Given the description of an element on the screen output the (x, y) to click on. 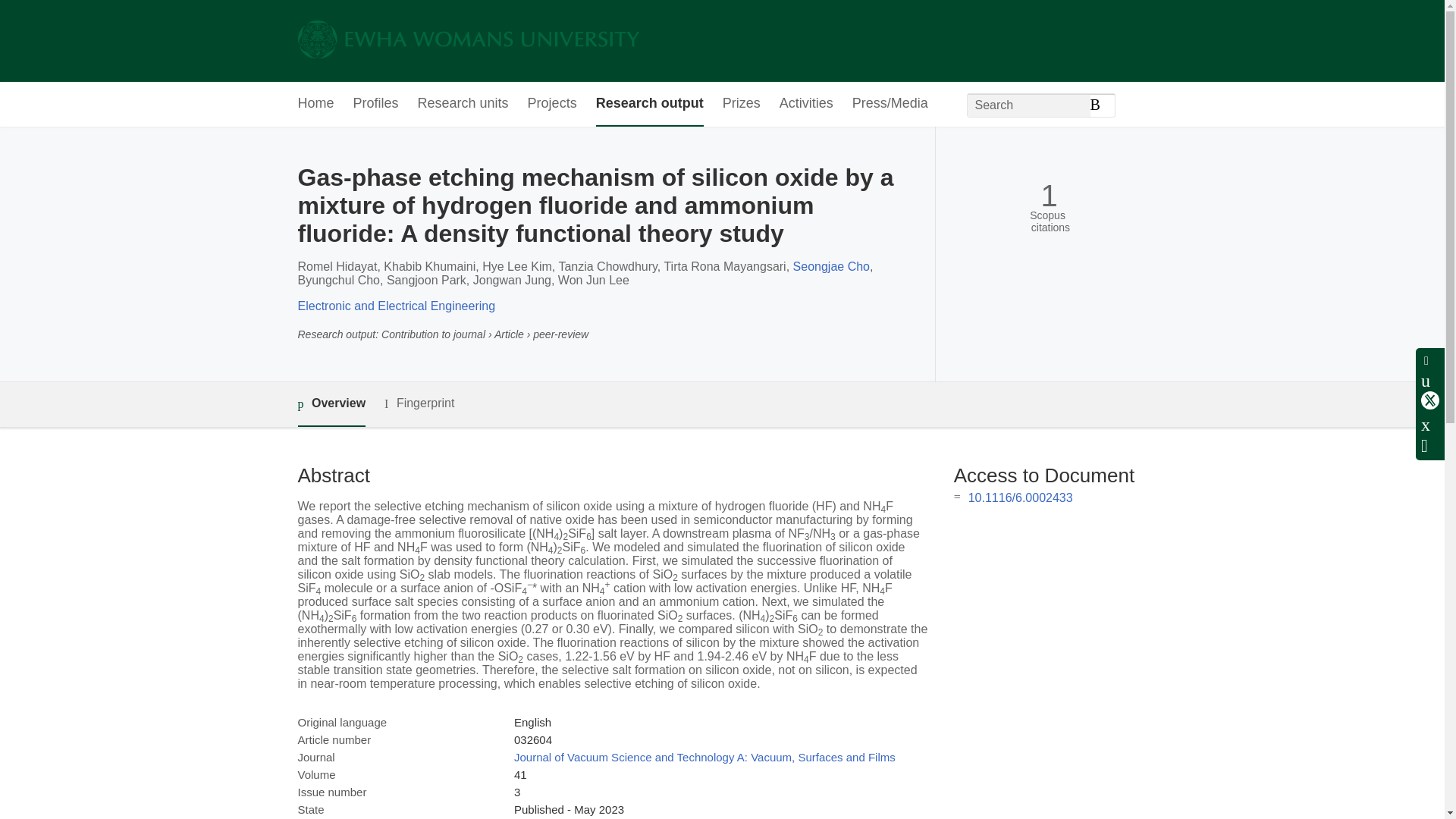
Activities (805, 103)
Profiles (375, 103)
Research output (649, 103)
Overview (331, 404)
Research units (462, 103)
Fingerprint (419, 403)
Projects (551, 103)
Seongjae Cho (831, 266)
Ewha Womans University Home (468, 40)
Electronic and Electrical Engineering (396, 305)
